Given the description of an element on the screen output the (x, y) to click on. 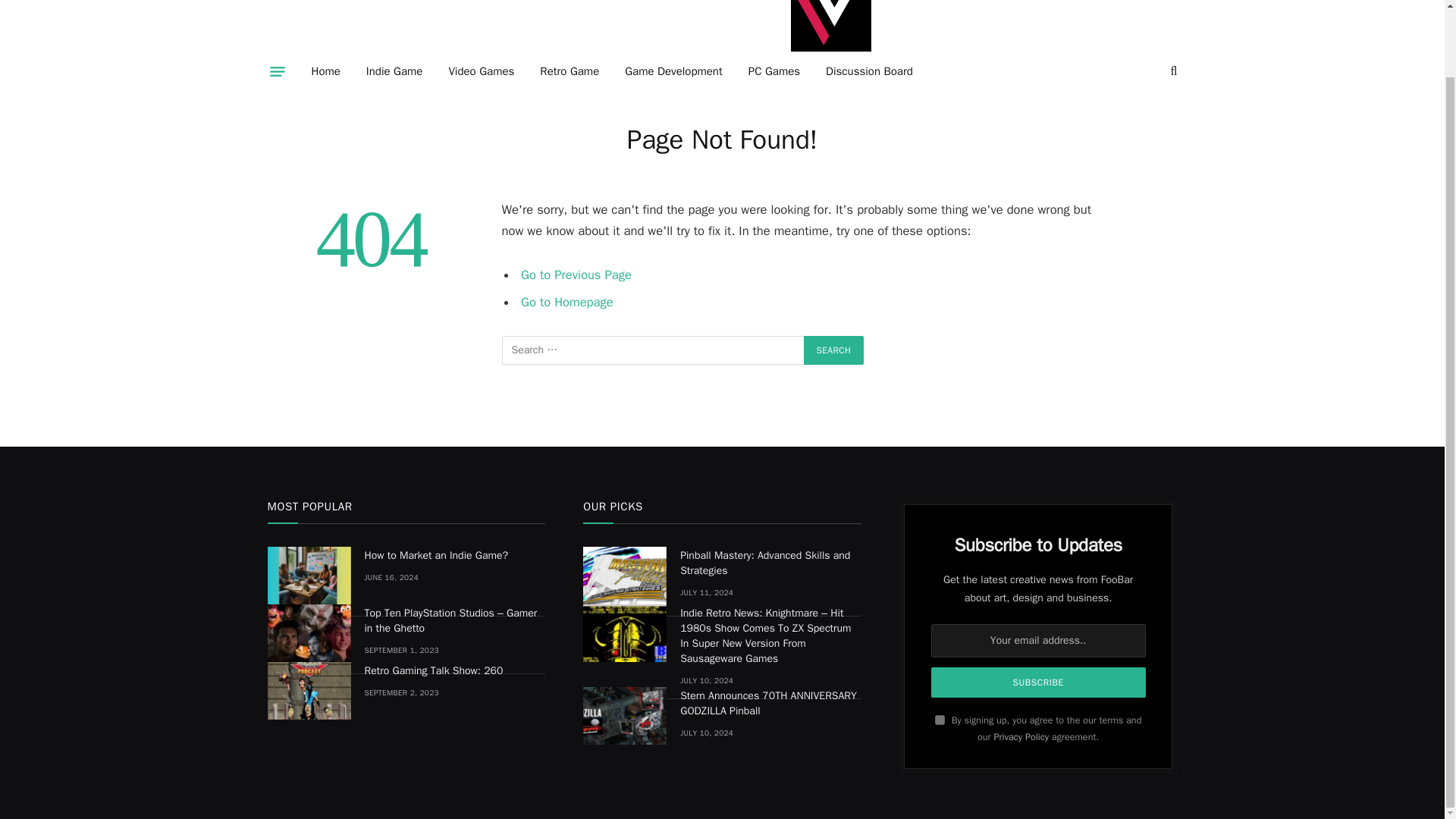
Subscribe (1038, 682)
Retro Game (569, 70)
Discussion Board (869, 70)
Home (325, 70)
Game Development (673, 70)
Indie Devchronicles (830, 29)
Stern Announces 70TH ANNIVERSARY GODZILLA Pinball (624, 715)
Video Games (481, 70)
Search (833, 349)
PC Games (773, 70)
How to Market an Indie Game? (308, 575)
Retro Gaming Talk Show: 260 (308, 690)
on (939, 719)
Go to Previous Page (576, 274)
How to Market an Indie Game? (454, 555)
